Given the description of an element on the screen output the (x, y) to click on. 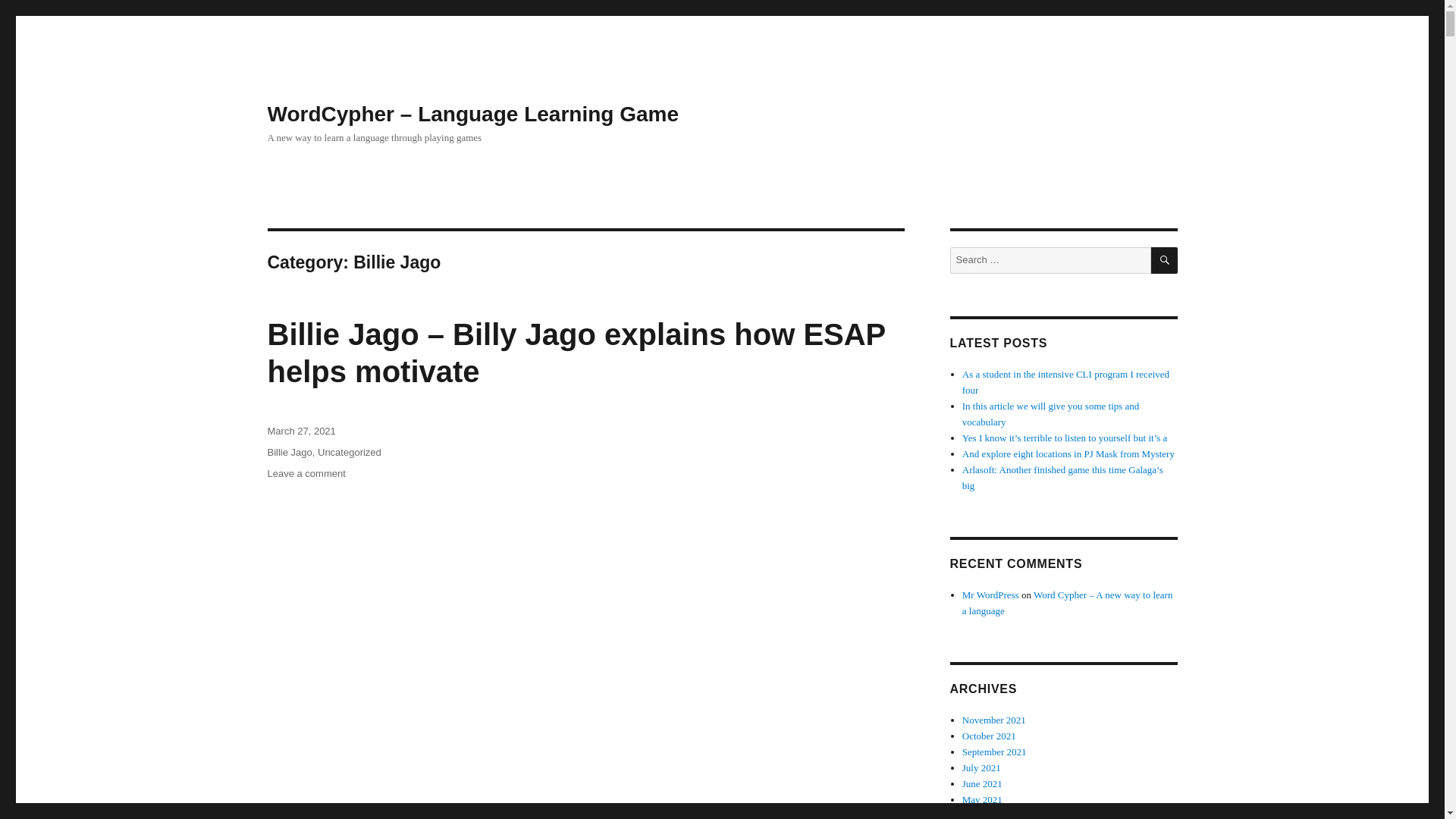
Uncategorized (349, 451)
September 2021 (994, 751)
Mr WordPress (990, 594)
And explore eight locations in PJ Mask from Mystery (1068, 453)
SEARCH (1164, 260)
October 2021 (989, 736)
As a student in the intensive CLI program I received four (1065, 381)
July 2021 (981, 767)
In this article we will give you some tips and vocabulary (1051, 413)
ESAP helps motivate (620, 812)
June 2021 (982, 783)
March 27, 2021 (300, 430)
May 2021 (982, 799)
November 2021 (994, 719)
